Given the description of an element on the screen output the (x, y) to click on. 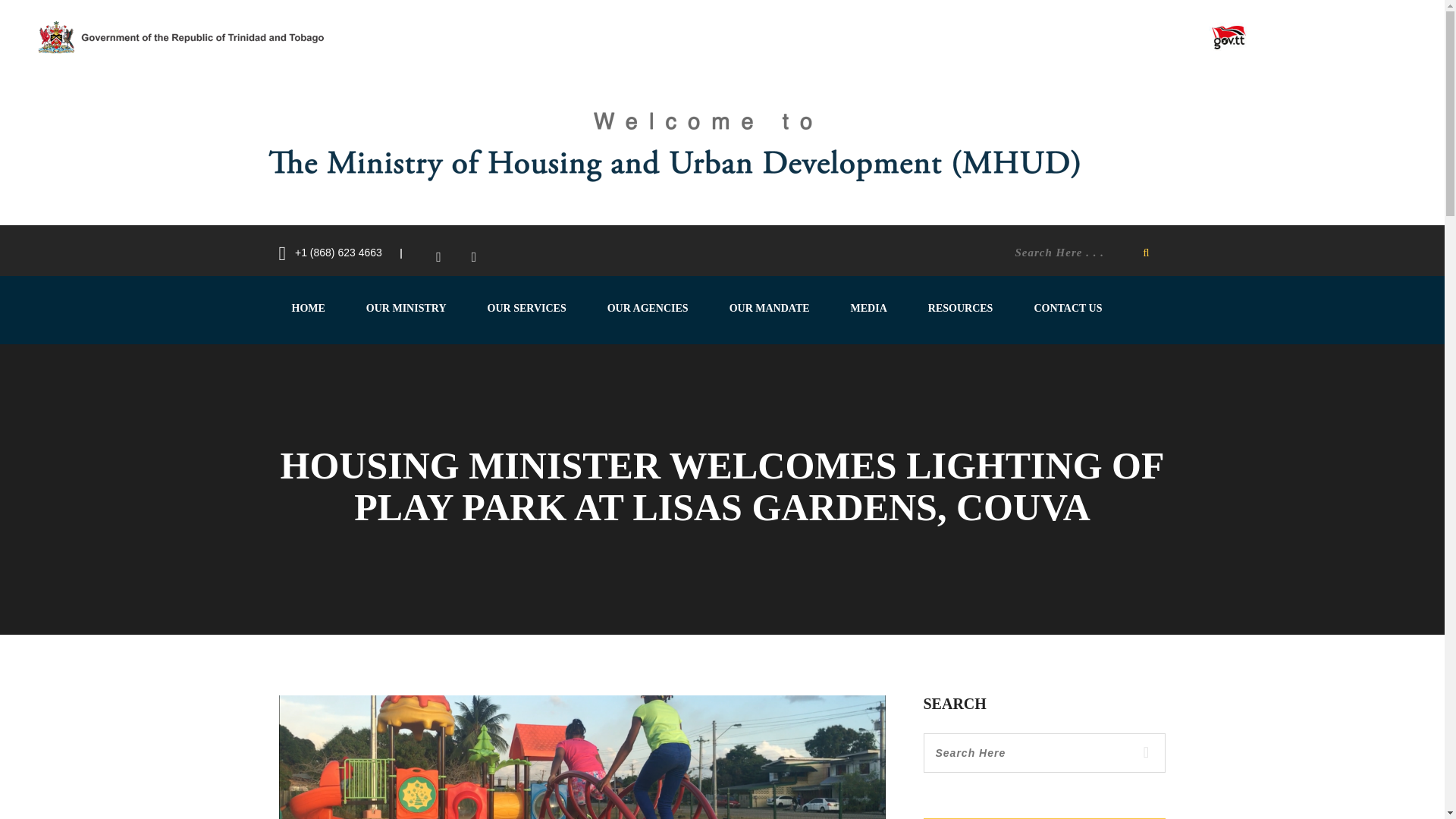
OUR MANDATE (769, 309)
OUR MINISTRY (406, 309)
OUR AGENCIES (647, 309)
Our Ministry (406, 309)
OUR SERVICES (526, 309)
Our Services (526, 309)
Ministry of Housing and Urban Development (672, 147)
